Given the description of an element on the screen output the (x, y) to click on. 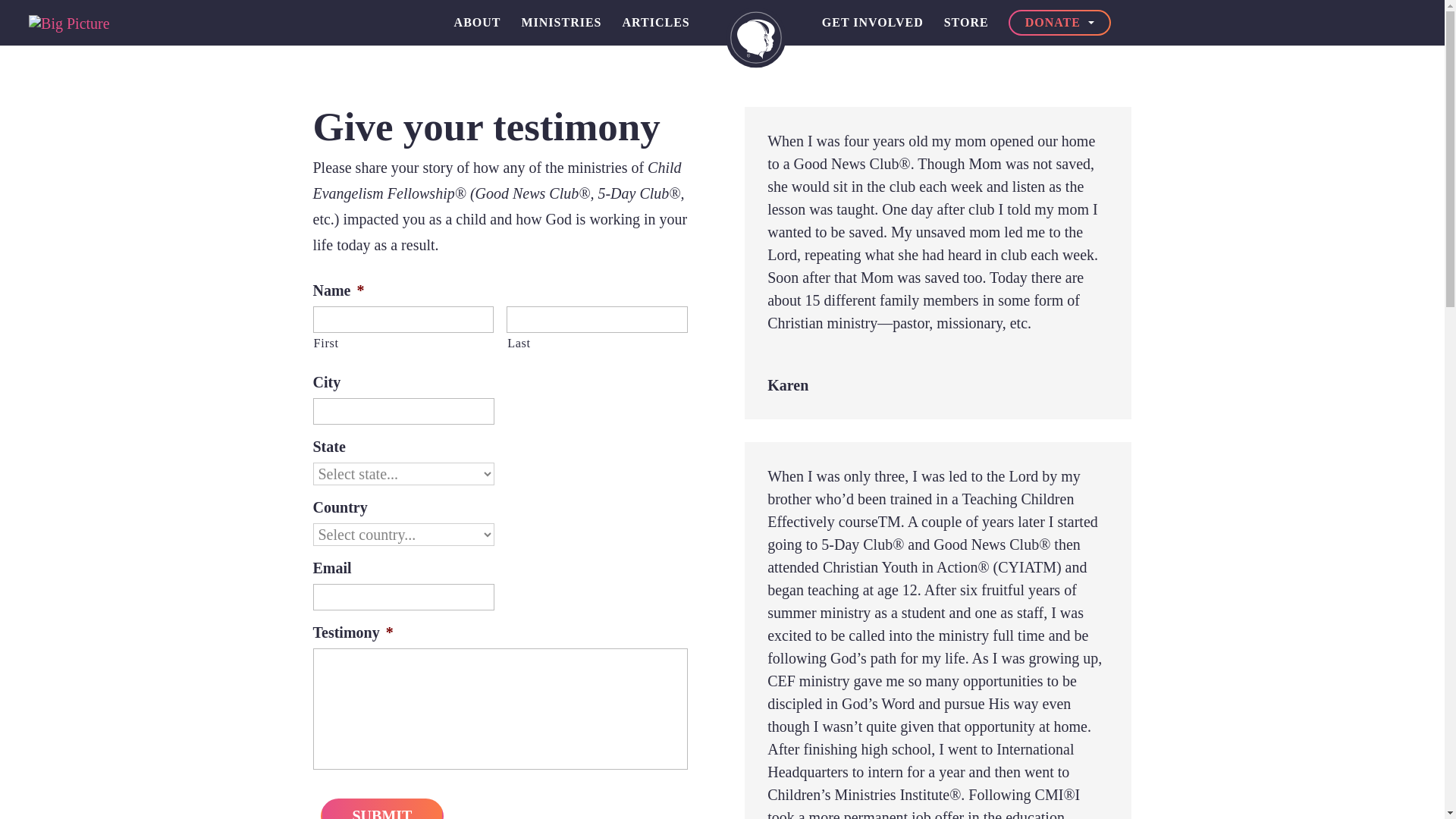
STORE (966, 22)
MINISTRIES (561, 22)
ARTICLES (656, 22)
Submit (382, 808)
ABOUT (477, 22)
Submit (382, 808)
DONATE (1059, 22)
GET INVOLVED (872, 22)
